Given the description of an element on the screen output the (x, y) to click on. 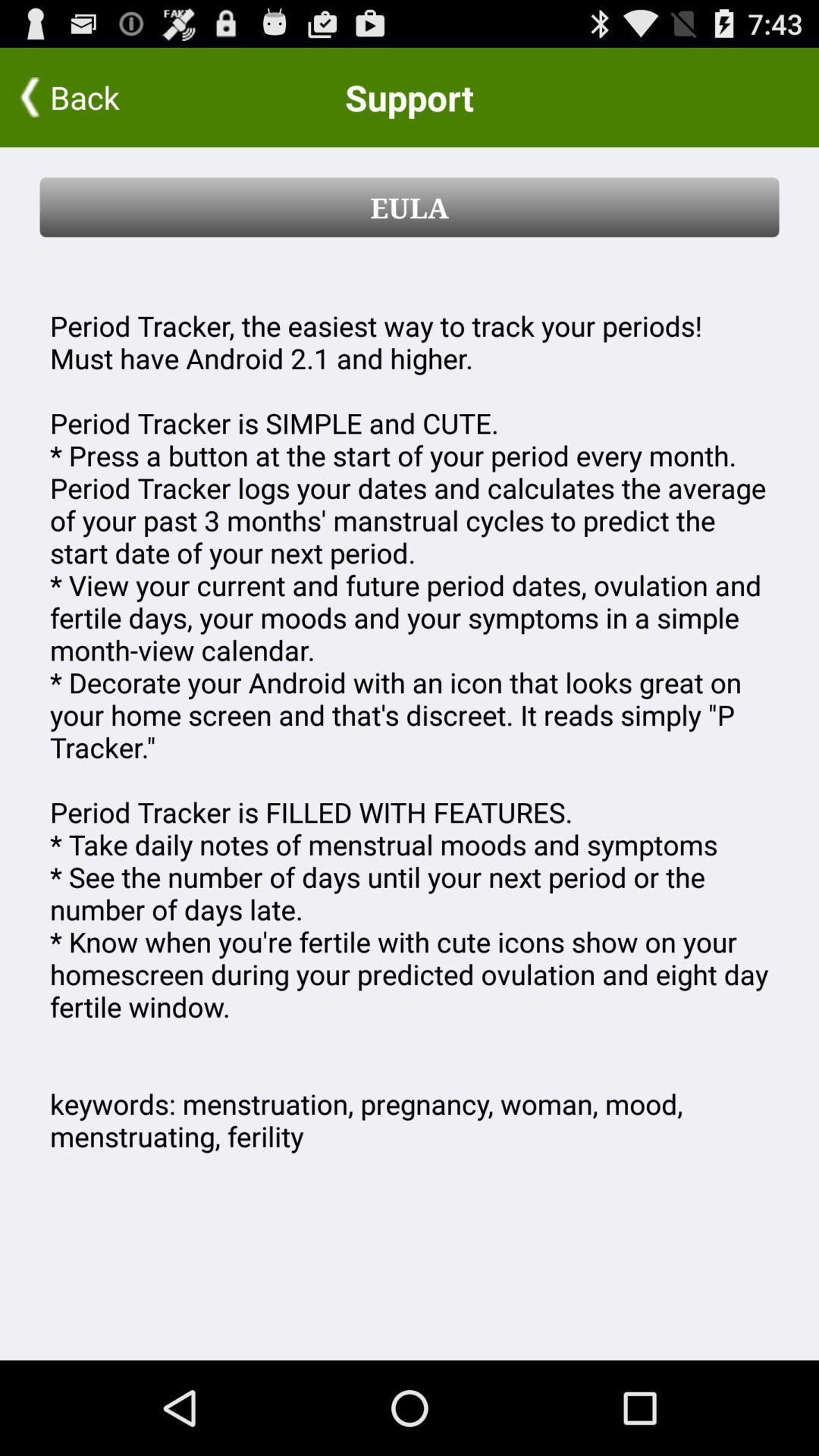
select the icon above eula button (99, 97)
